Given the description of an element on the screen output the (x, y) to click on. 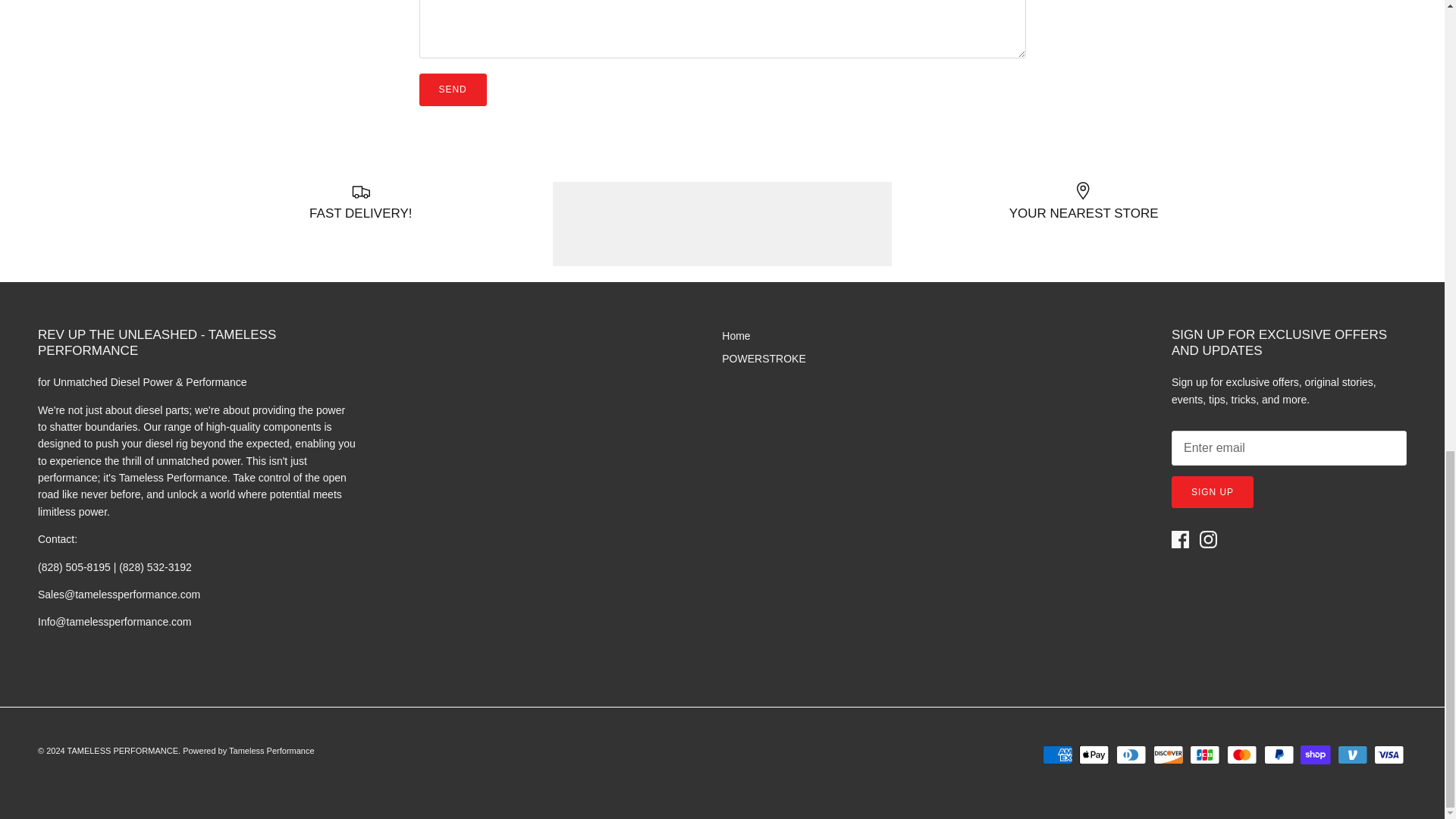
Shop Pay (1315, 754)
Apple Pay (1093, 754)
JCB (1204, 754)
Diners Club (1130, 754)
tel:8285058195 (114, 567)
Venmo (1352, 754)
Discover (1168, 754)
American Express (1057, 754)
Mastercard (1241, 754)
Facebook (1180, 538)
